Given the description of an element on the screen output the (x, y) to click on. 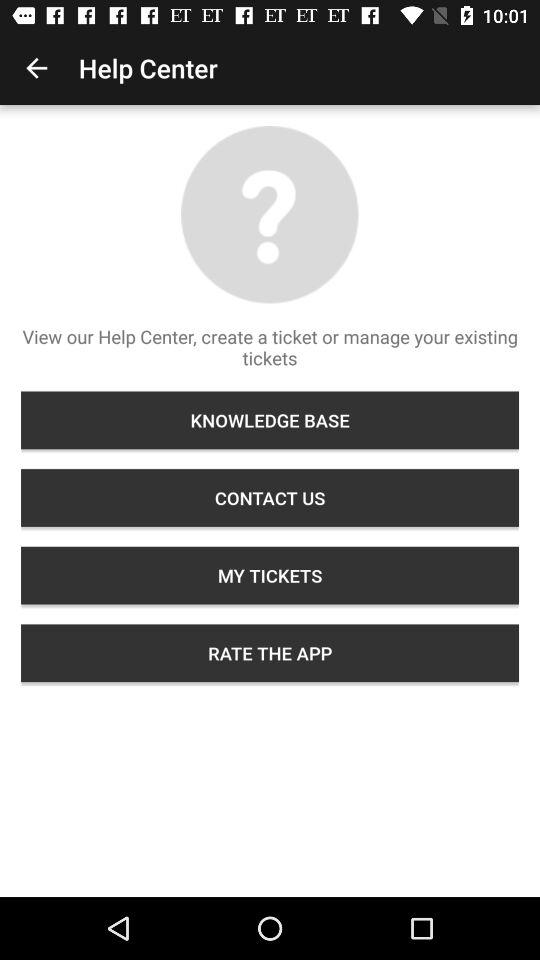
flip until the knowledge base item (270, 420)
